Given the description of an element on the screen output the (x, y) to click on. 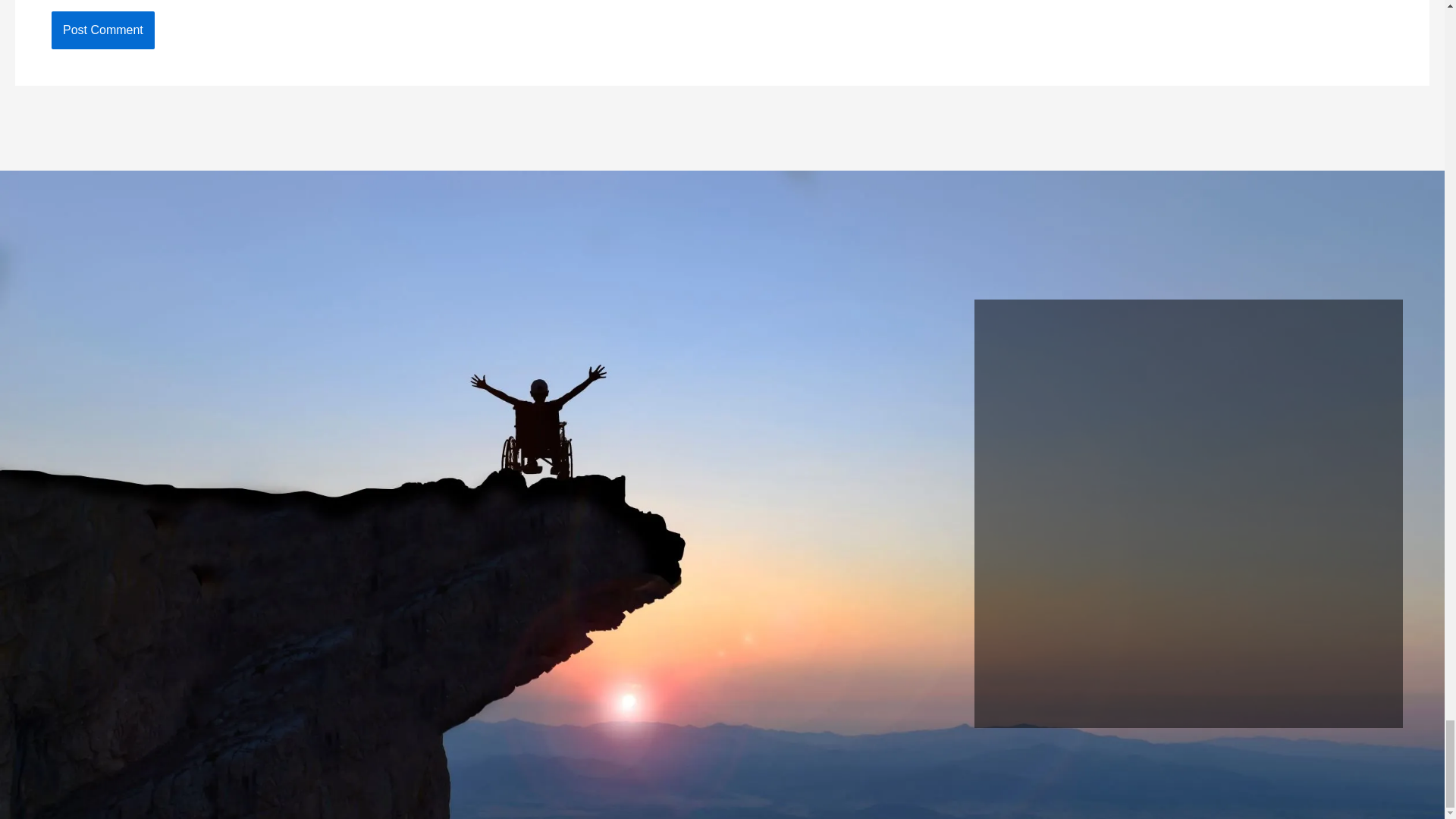
Post Comment (102, 30)
